Given the description of an element on the screen output the (x, y) to click on. 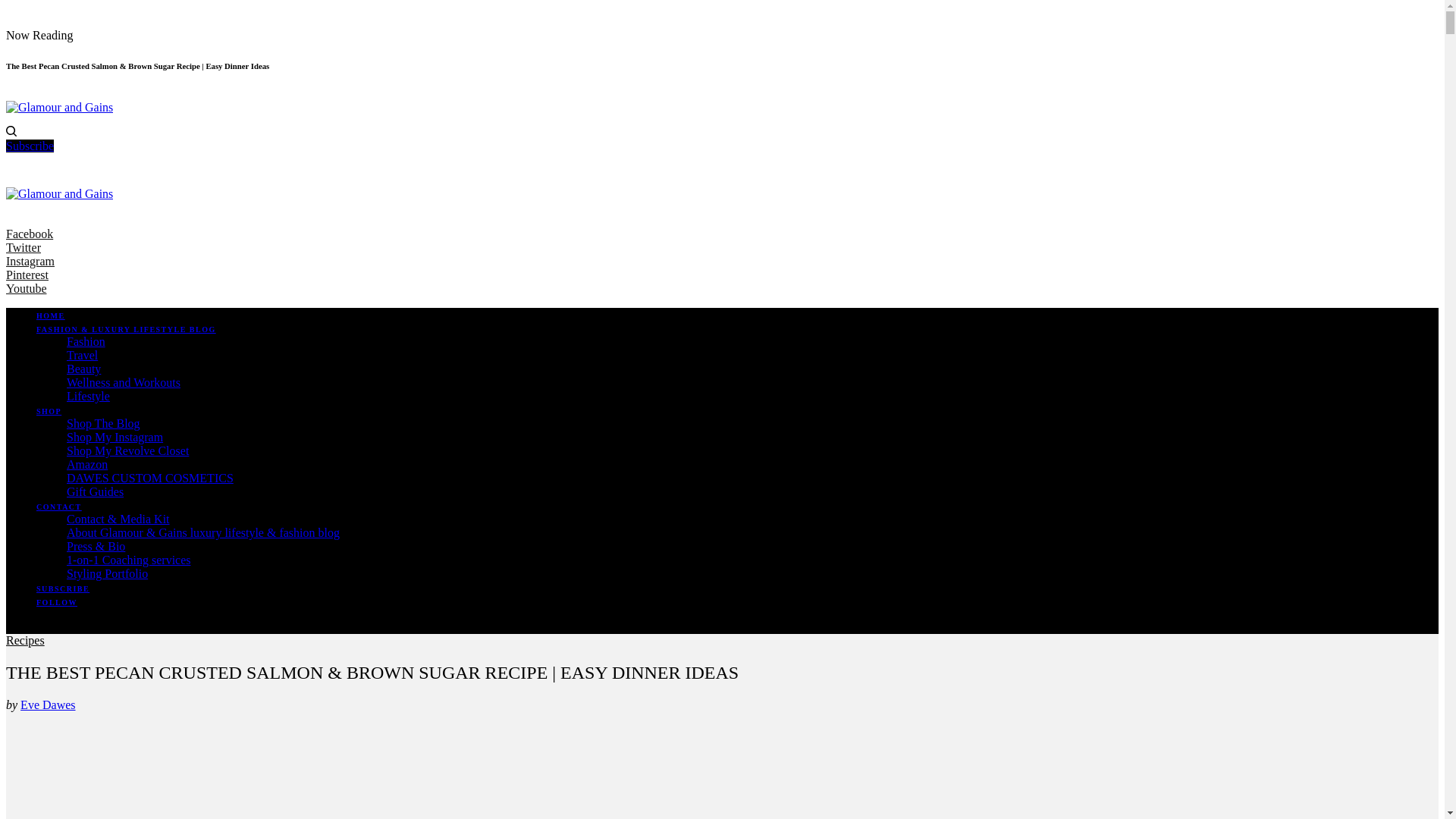
Recipes (25, 640)
FOLLOW (56, 602)
SHOP (48, 411)
Posts by Eve Dawes (47, 704)
Beauty (83, 368)
Gift Guides (94, 491)
DAWES CUSTOM COSMETICS (149, 477)
Styling Portfolio (107, 573)
CONTACT (58, 506)
Shop My Instagram (114, 436)
Glamour and Gains (59, 193)
Fashion (85, 341)
Shop The Blog (102, 422)
Wellness and Workouts (123, 382)
SUBSCRIBE (62, 588)
